Given the description of an element on the screen output the (x, y) to click on. 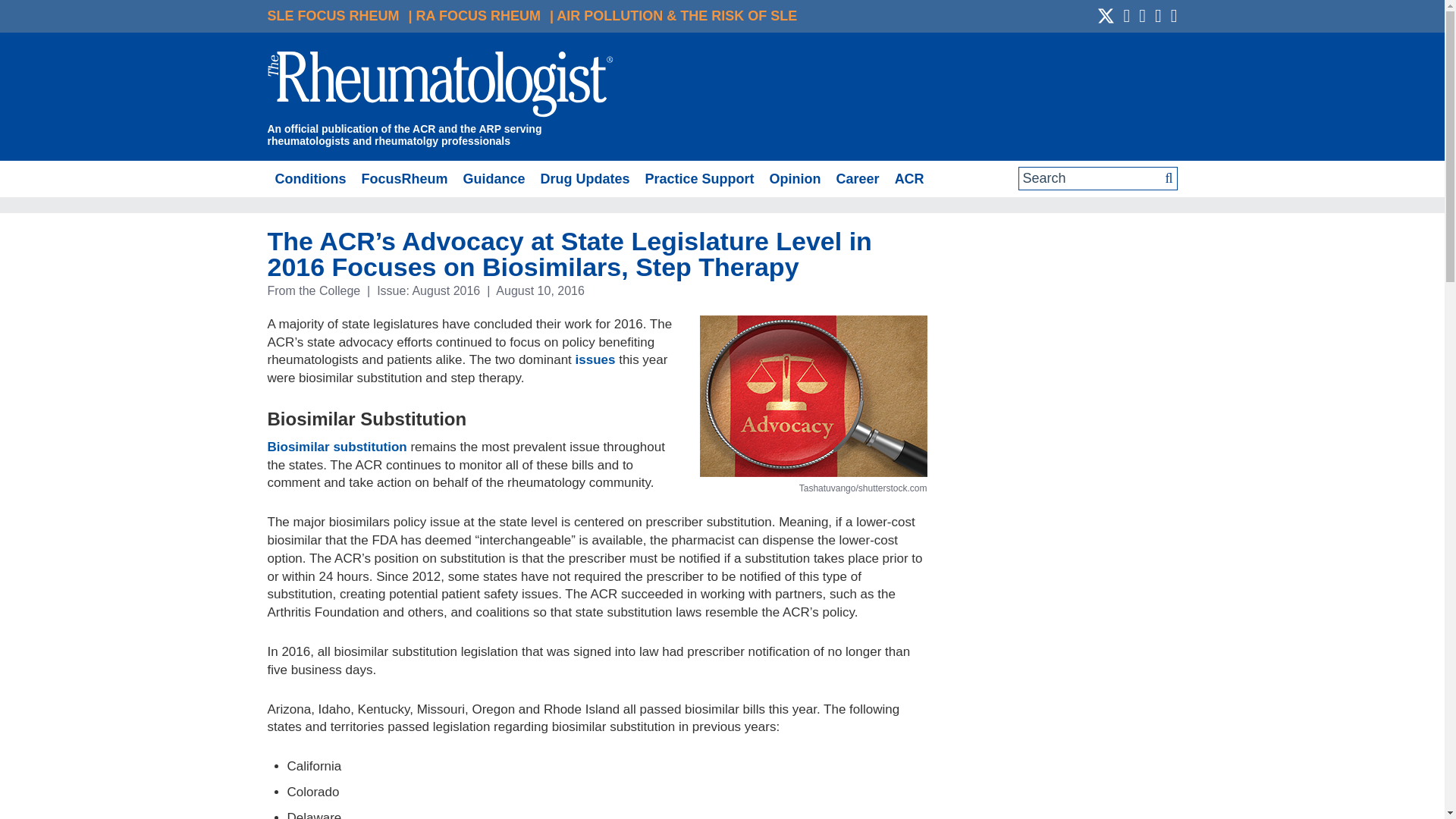
Guidance (493, 178)
Conditions (309, 178)
FocusRheum (403, 178)
SLE FOCUS RHEUM (332, 15)
The Rheumatologist (439, 86)
